Given the description of an element on the screen output the (x, y) to click on. 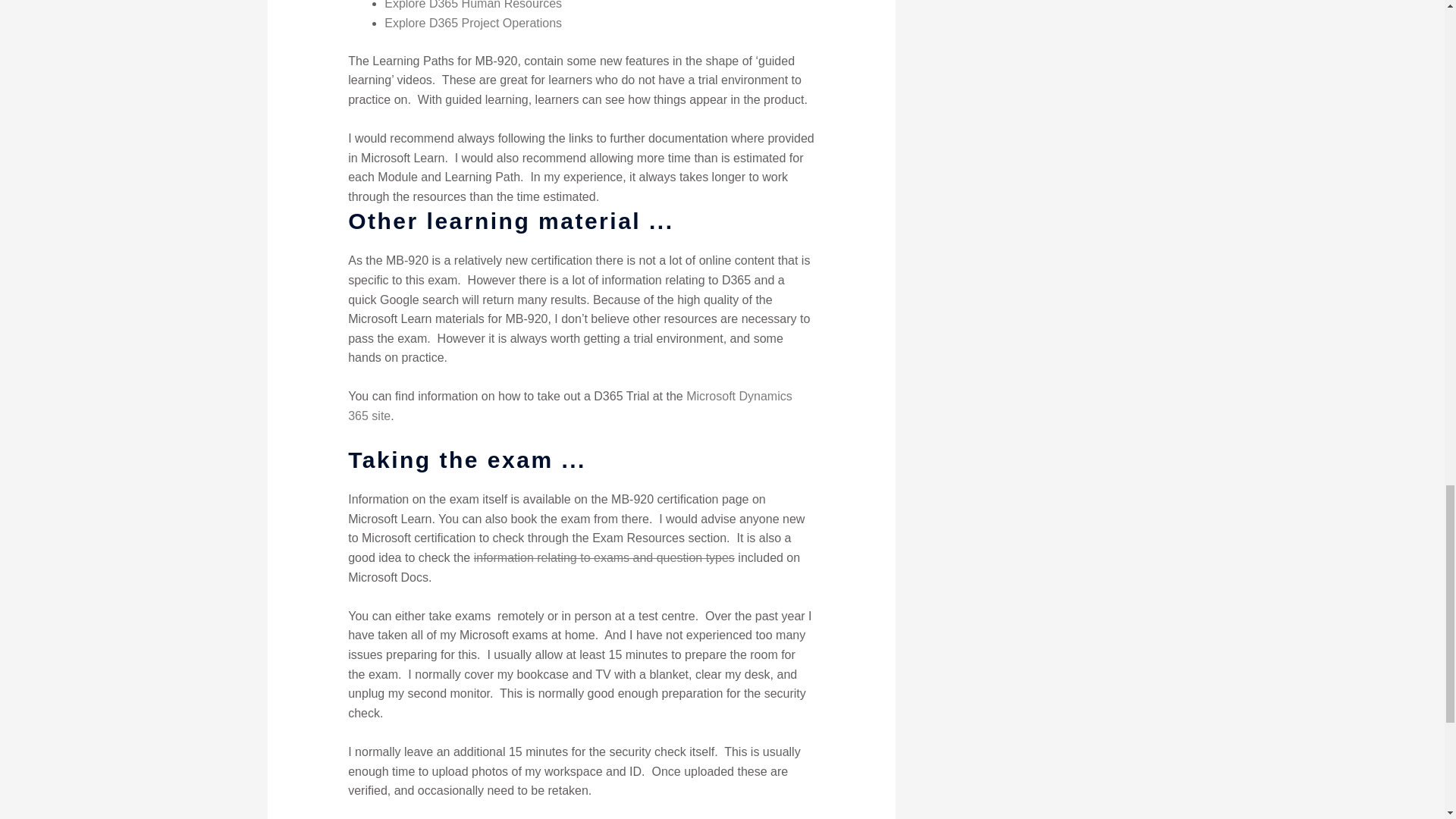
Explore D365 Project Operations (473, 22)
Explore D365 Human Resources (473, 4)
Microsoft Dynamics 365 site (569, 405)
information relating to exams and question types (604, 557)
